Given the description of an element on the screen output the (x, y) to click on. 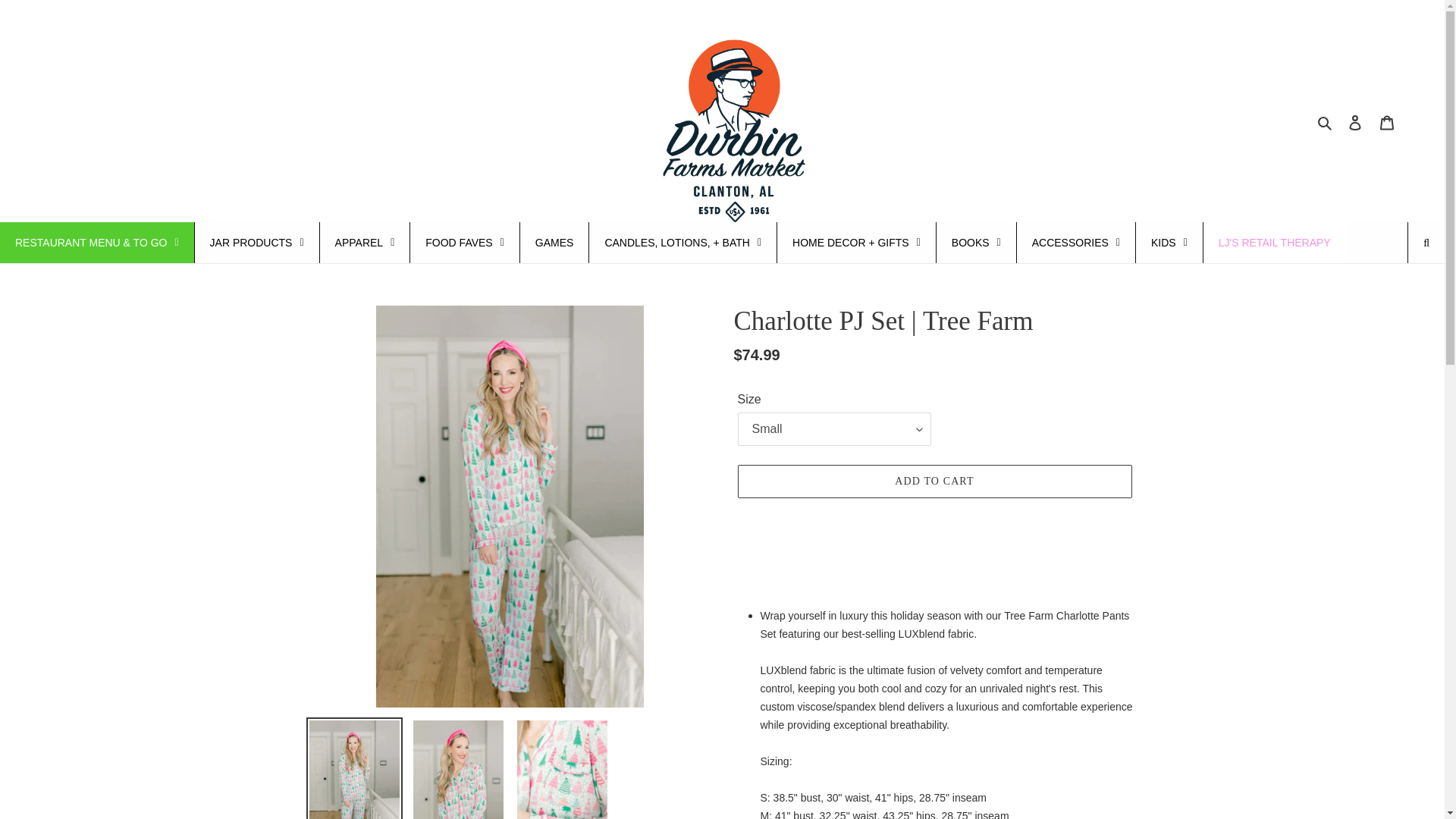
Log in (1355, 122)
Cart (1387, 122)
Search (1326, 121)
